Given the description of an element on the screen output the (x, y) to click on. 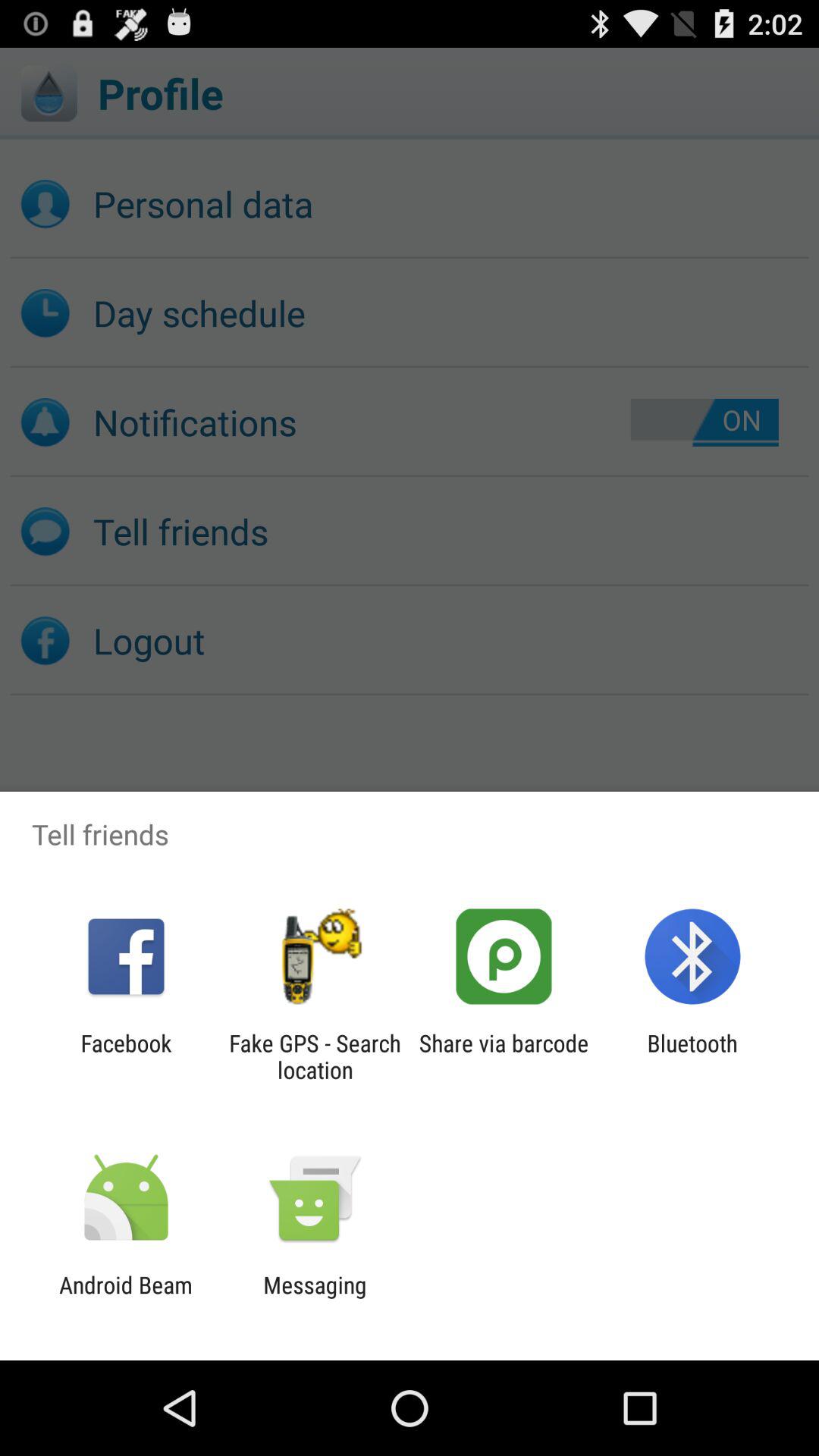
swipe until android beam icon (125, 1298)
